Given the description of an element on the screen output the (x, y) to click on. 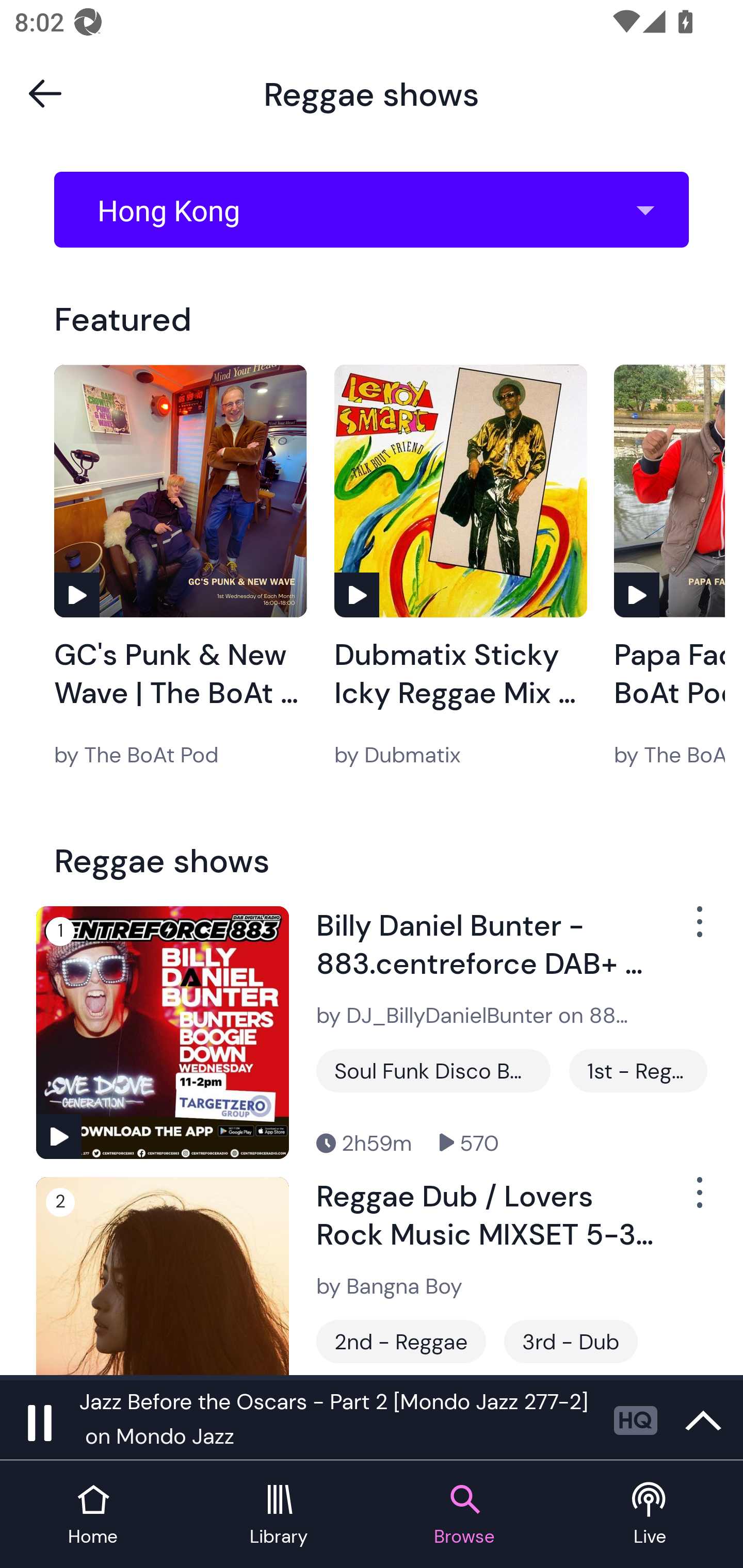
Hong Kong (378, 209)
Show Options Menu Button (697, 929)
Soul Funk Disco Boogie (433, 1070)
1st - Reggae (637, 1070)
Show Options Menu Button (697, 1200)
2nd - Reggae (400, 1341)
3rd - Dub (570, 1341)
Home tab Home (92, 1515)
Library tab Library (278, 1515)
Browse tab Browse (464, 1515)
Live tab Live (650, 1515)
